Given the description of an element on the screen output the (x, y) to click on. 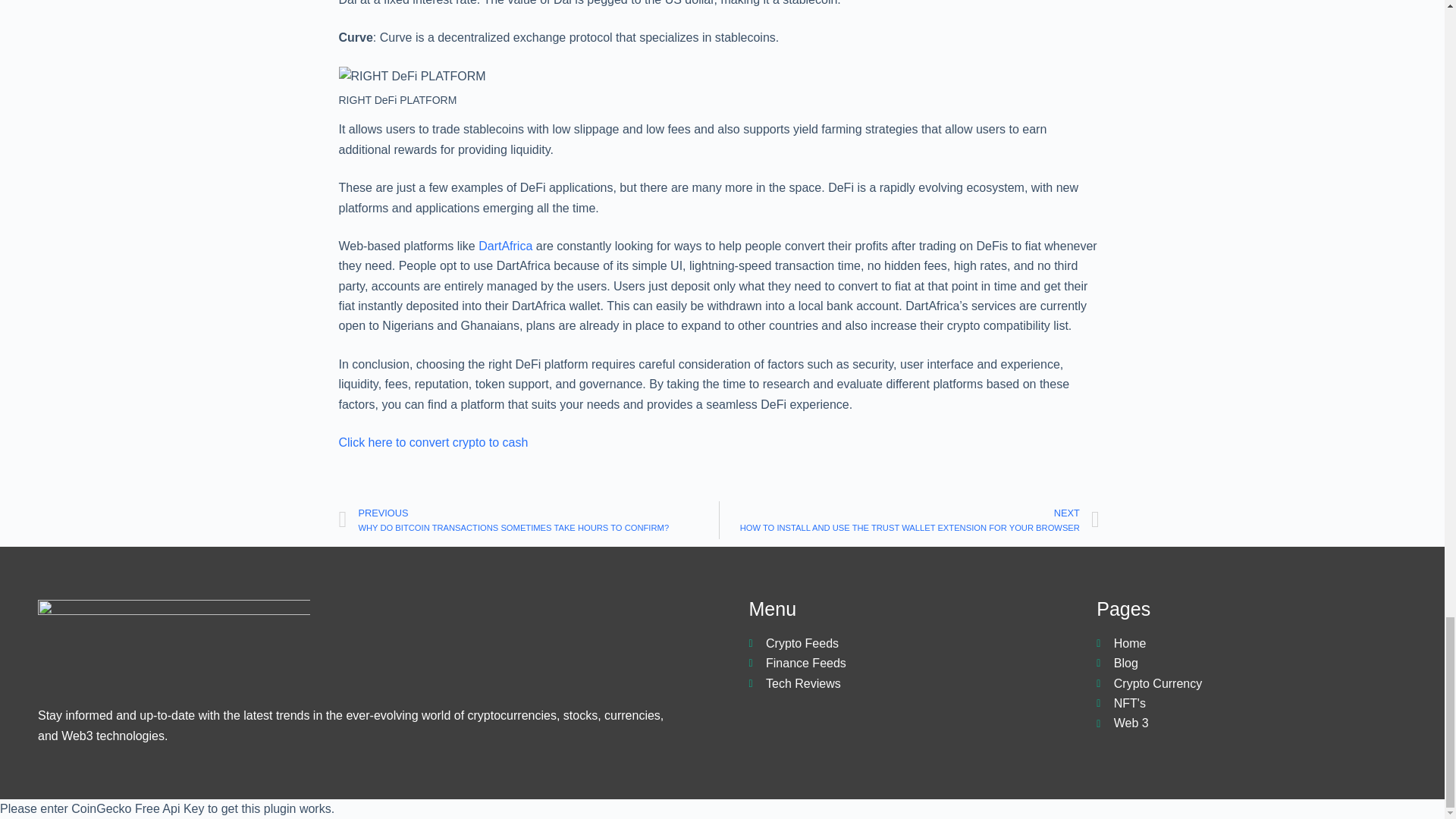
Blog (1262, 663)
Click here to convert crypto to cash (432, 441)
DartAfrica (505, 245)
Home (1262, 643)
Finance Feeds (915, 663)
HOW TO CHOOSE THE RIGHT DeFi PLATFORM 5 (410, 76)
Crypto Feeds (915, 643)
